Given the description of an element on the screen output the (x, y) to click on. 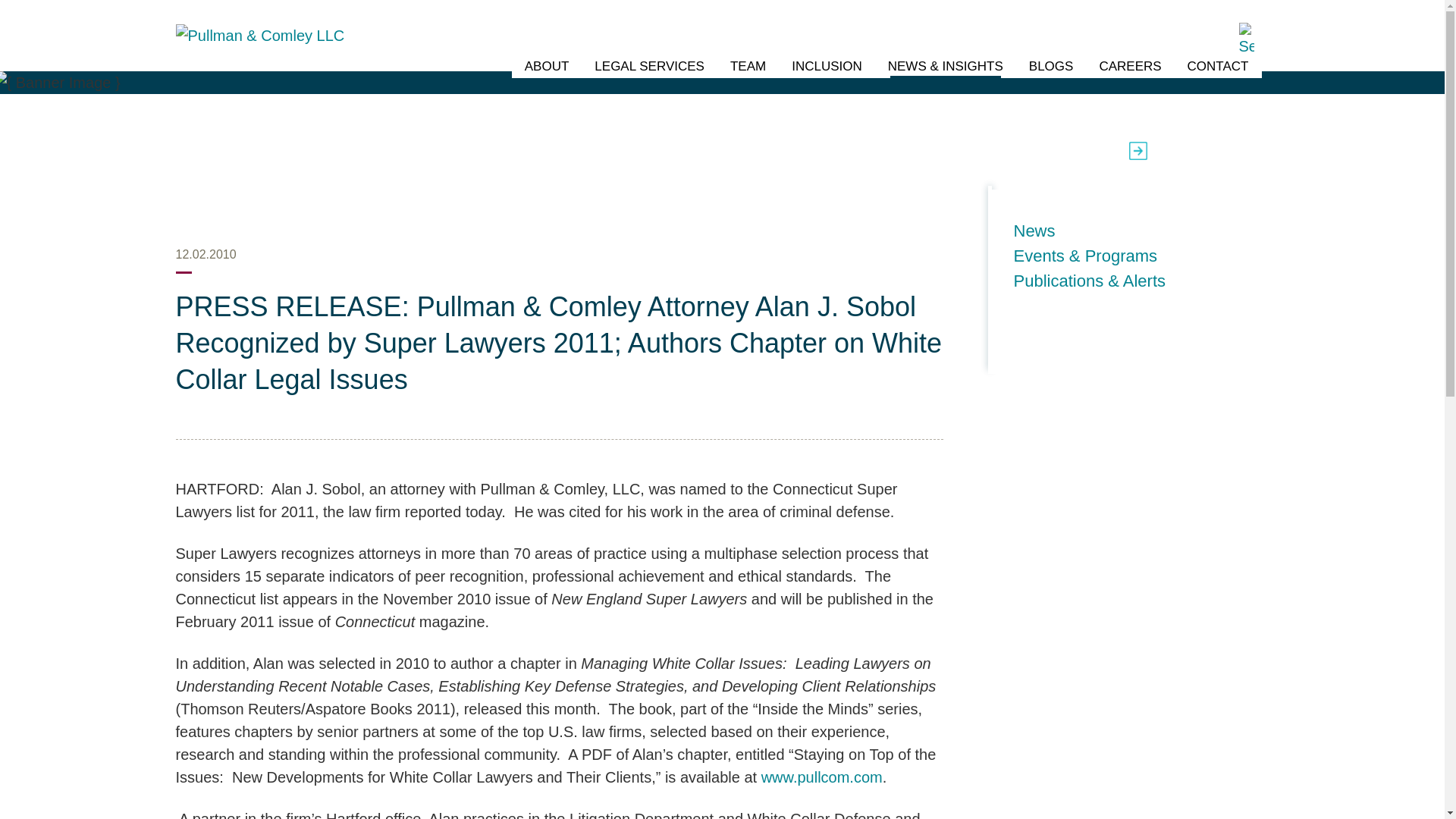
BLOGS (1051, 66)
Main Content (666, 19)
CAREERS (1129, 66)
TEAM (747, 66)
ABOUT (546, 66)
Menu (673, 19)
LEGAL SERVICES (649, 66)
INCLUSION (826, 66)
Main Menu (673, 19)
Share (1232, 149)
